Given the description of an element on the screen output the (x, y) to click on. 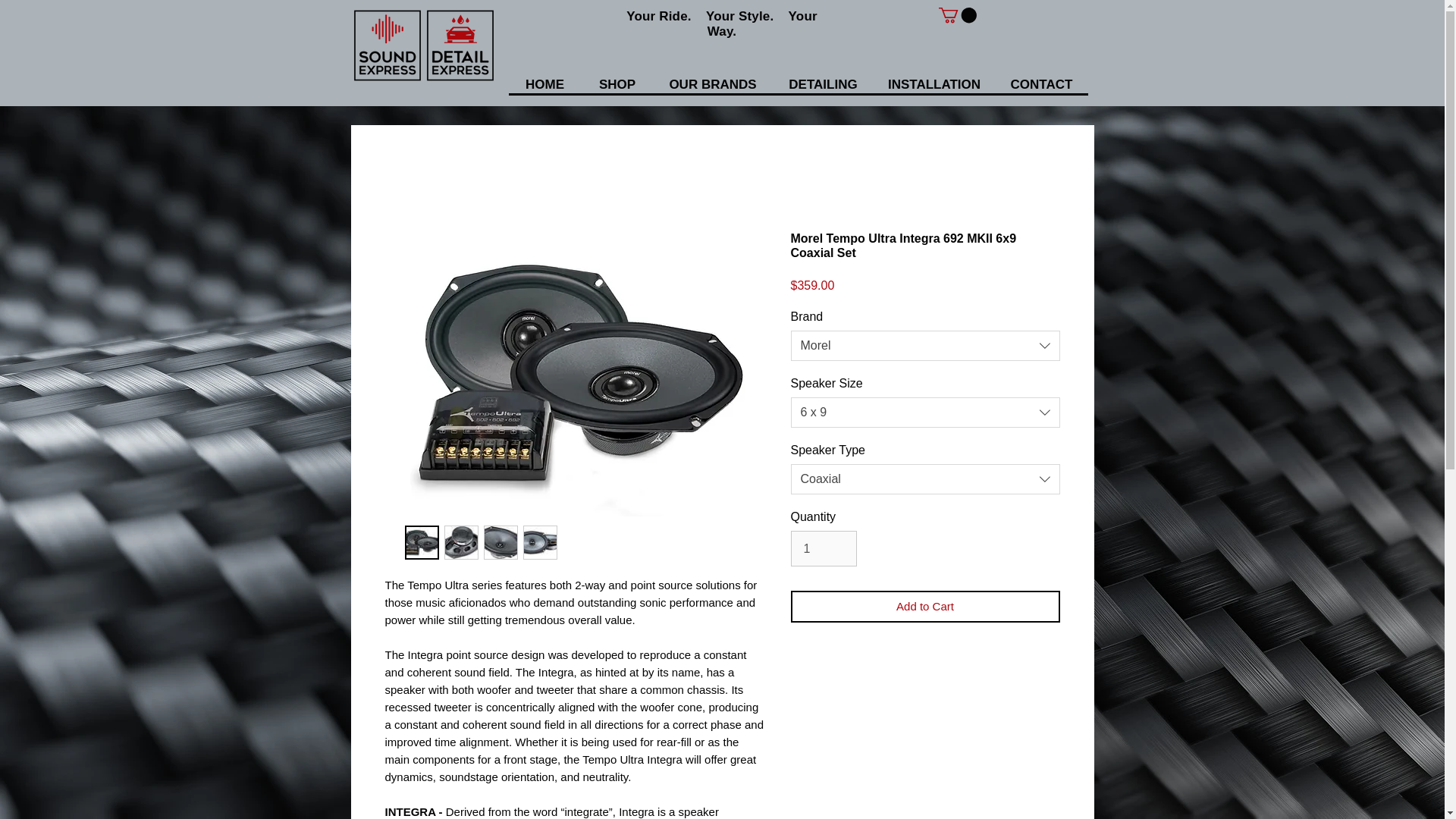
CONTACT (1040, 84)
SHOP (616, 84)
Add to Cart (924, 606)
1 (823, 547)
DETAILING (821, 84)
INSTALLATION (933, 84)
6 x 9 (924, 412)
Coaxial (924, 479)
HOME (544, 84)
Morel (924, 345)
